Given the description of an element on the screen output the (x, y) to click on. 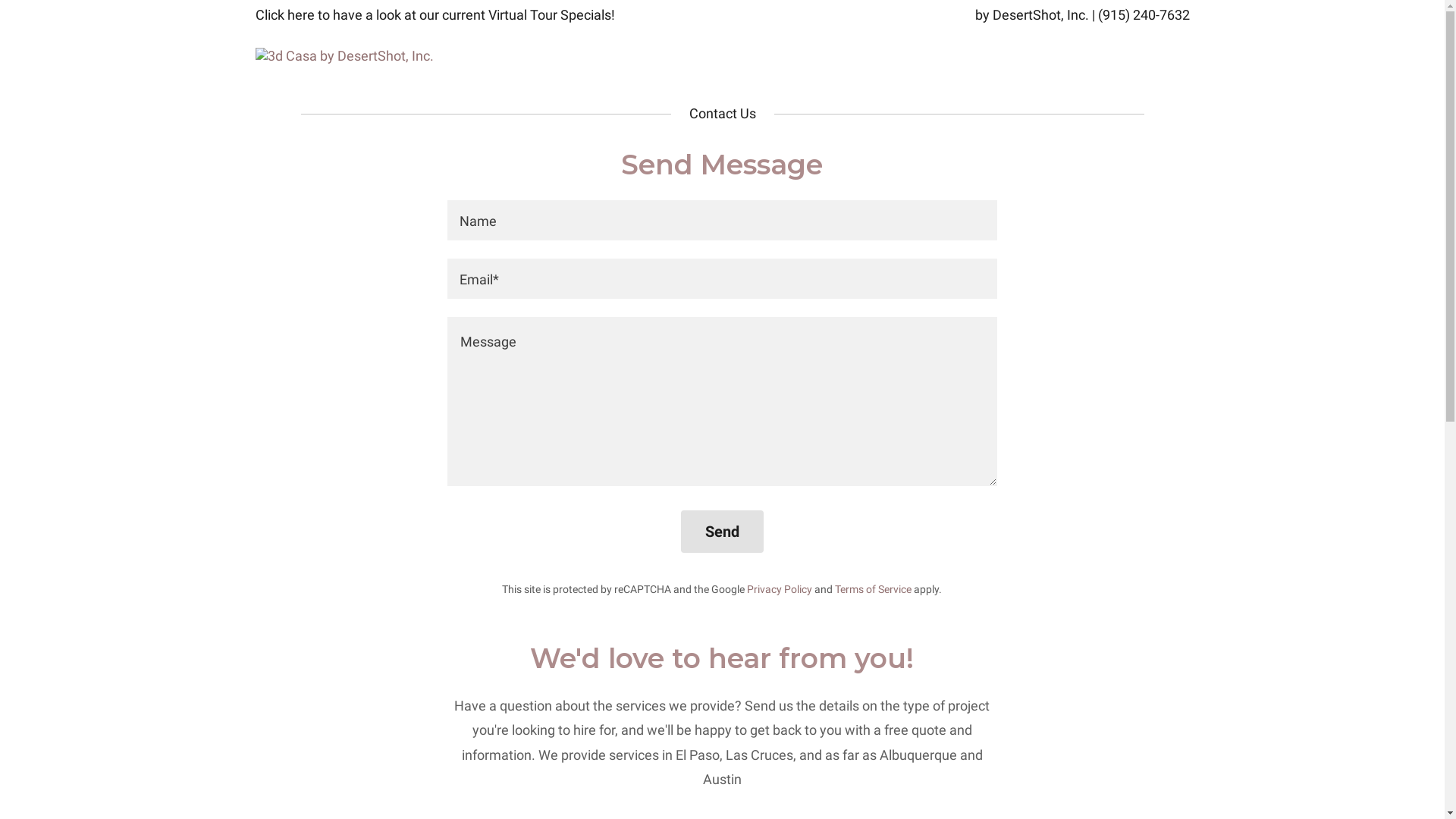
Send Element type: text (721, 531)
(915) 240-7632 Element type: text (1143, 14)
Privacy Policy Element type: text (779, 589)
by DesertShot, Inc. | Element type: text (1036, 14)
3d Casa by DesertShot, Inc. Element type: hover (343, 54)
Terms of Service Element type: text (872, 589)
